Given the description of an element on the screen output the (x, y) to click on. 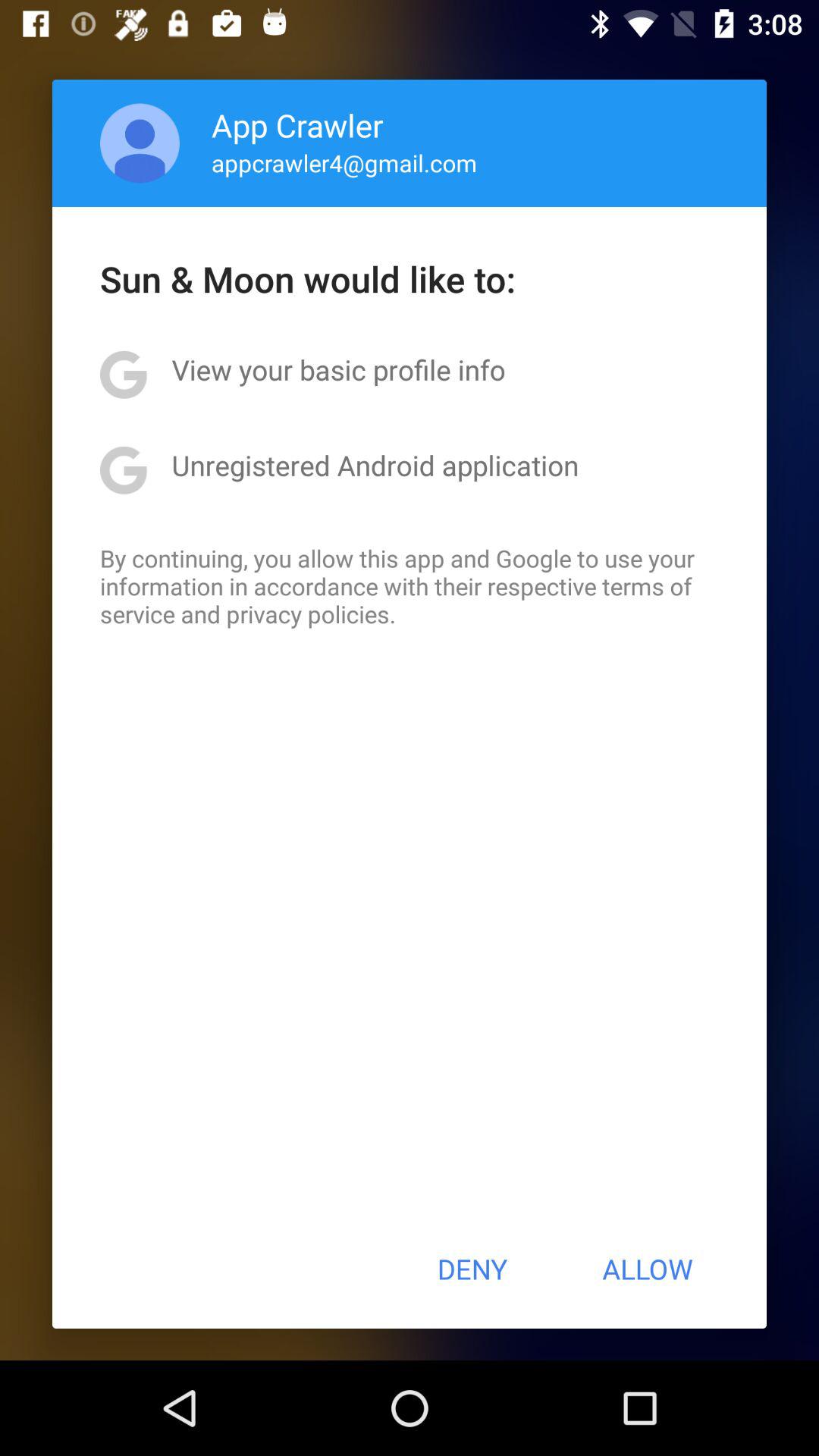
choose unregistered android application item (374, 465)
